Given the description of an element on the screen output the (x, y) to click on. 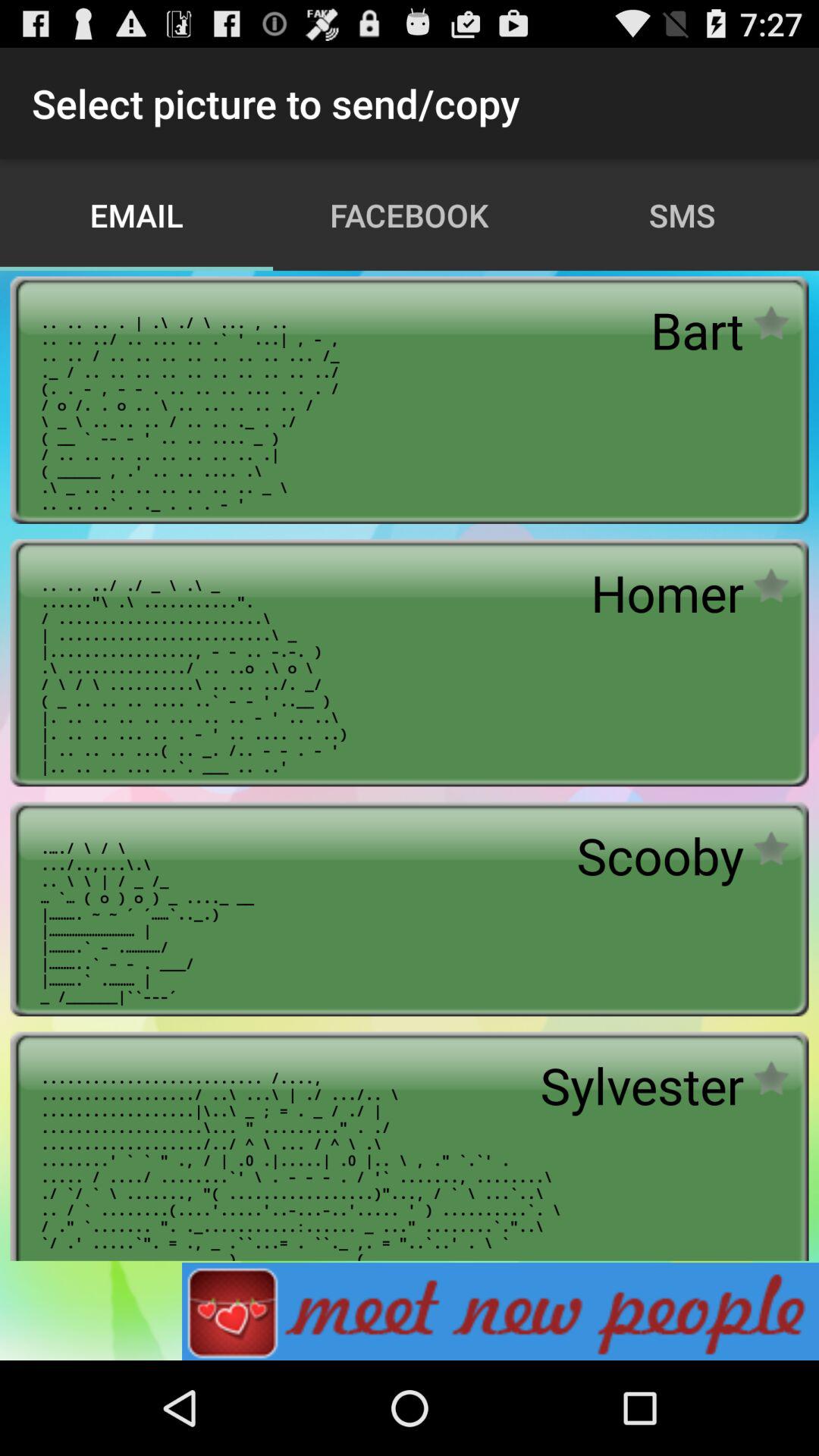
swipe to scooby icon (659, 855)
